Given the description of an element on the screen output the (x, y) to click on. 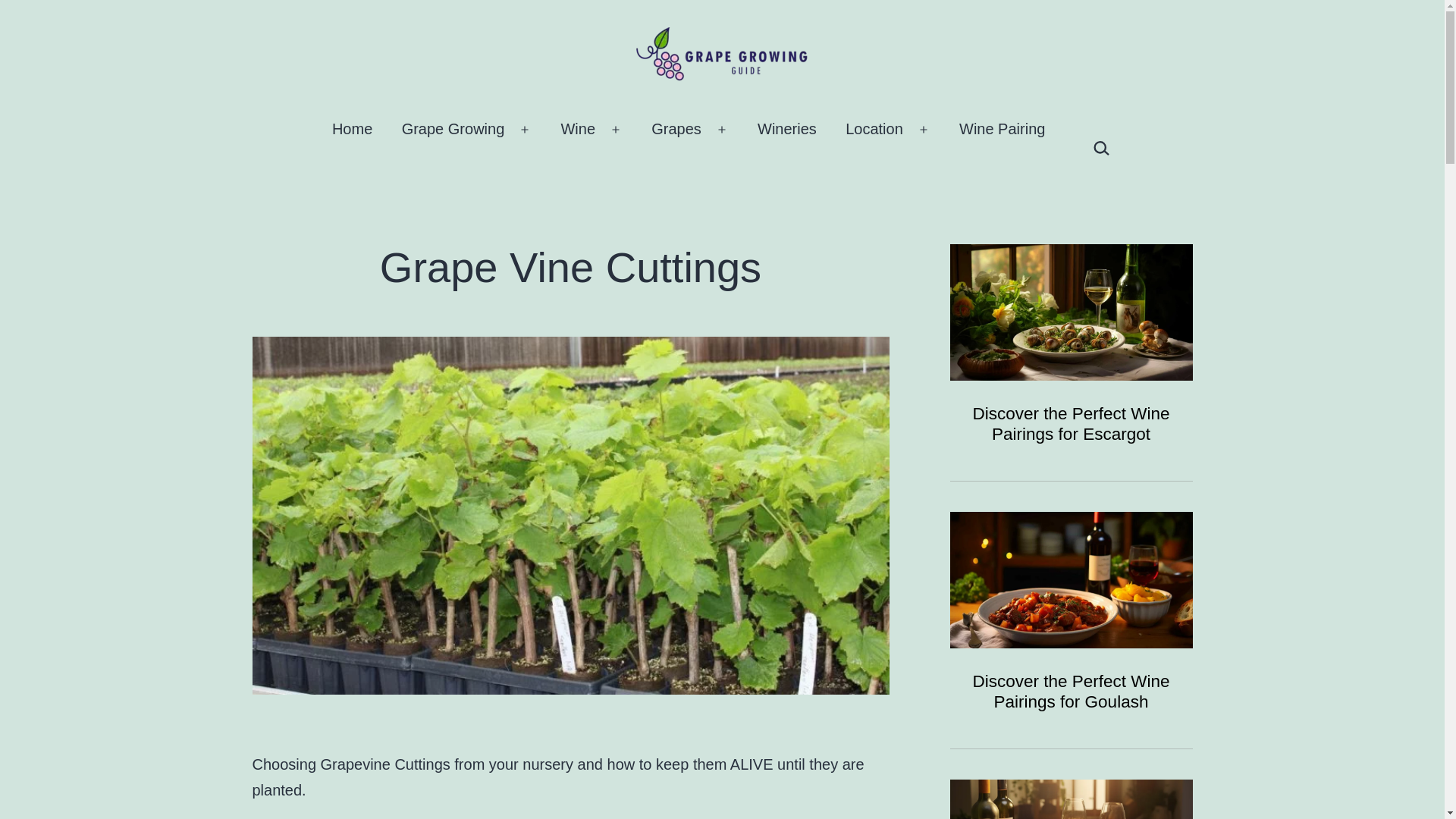
Discover the Perfect Wine Pairings for Escargot (1070, 423)
Discover The Perfect Wine Pairings For Goulash 8 (1070, 579)
Home (351, 129)
Location (873, 129)
Discover The Perfect Wine Pairings For Pork Schnitzel 9 (1070, 799)
Wineries (787, 129)
Wine (577, 129)
Discover The Perfect Wine Pairings For Escargot 7 (1070, 312)
Wine Pairing (1002, 129)
Grapes (676, 129)
Grape Growing (452, 129)
